Given the description of an element on the screen output the (x, y) to click on. 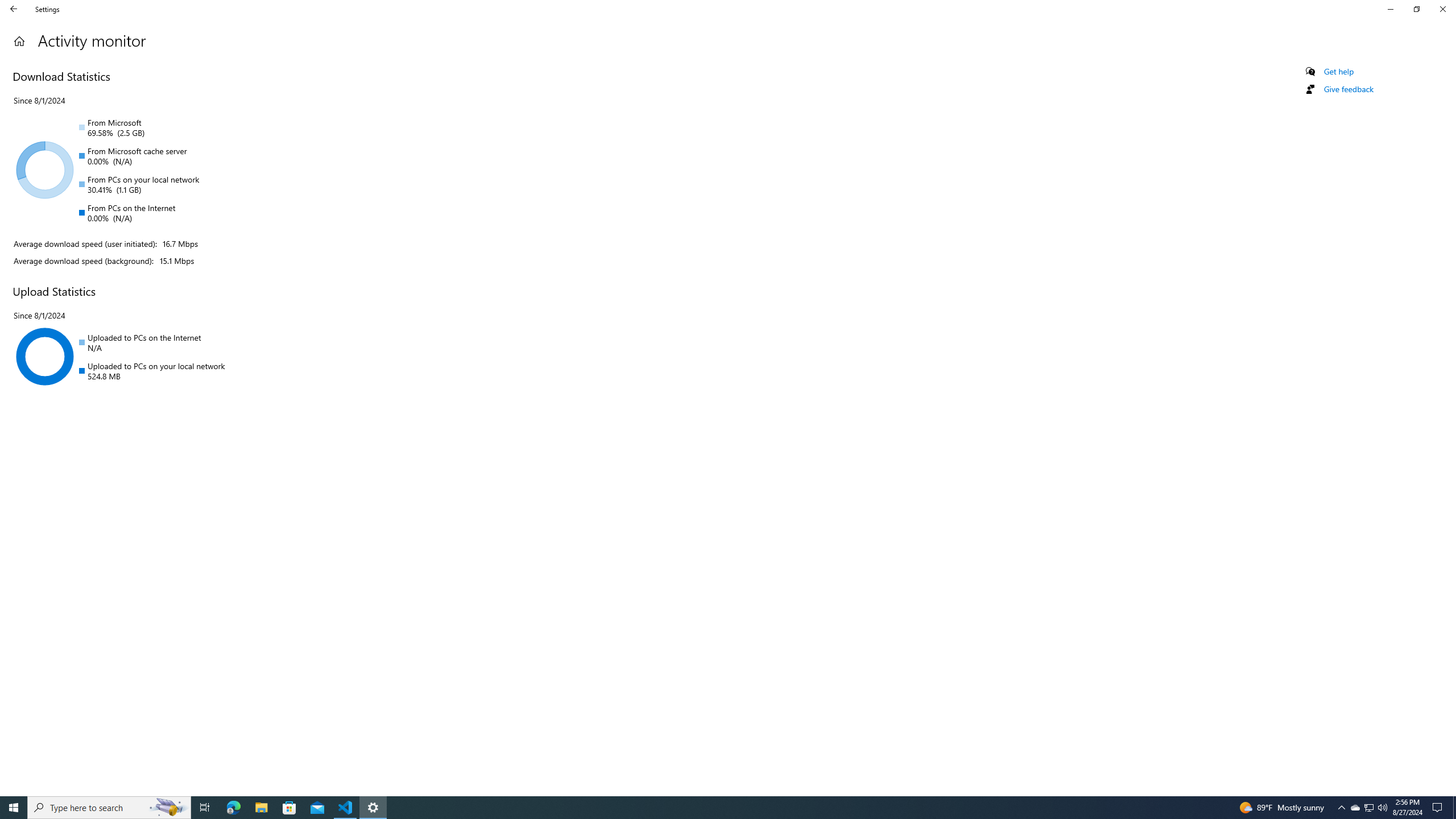
Give feedback (1348, 88)
